Given the description of an element on the screen output the (x, y) to click on. 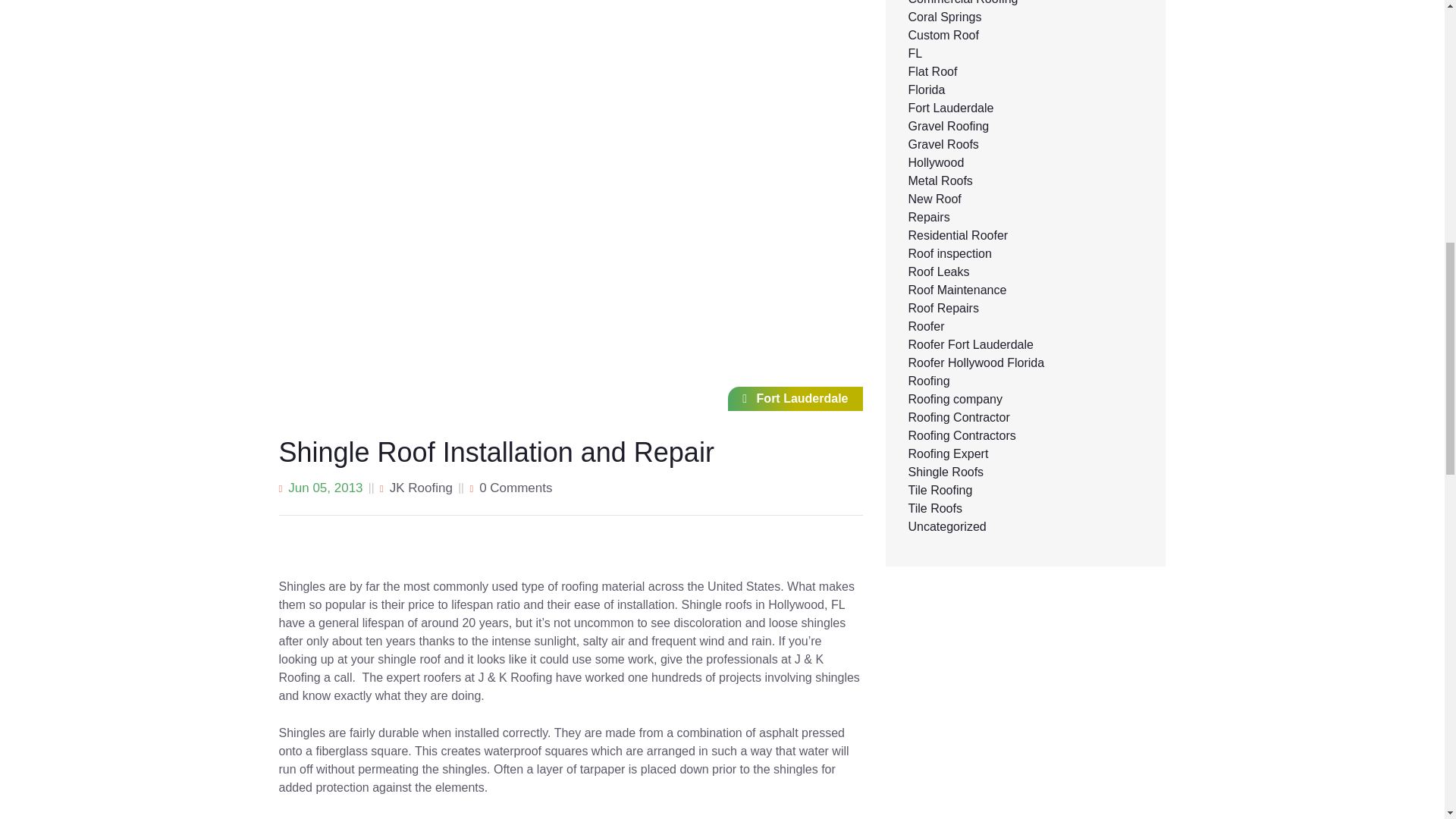
Search Now! (1016, 148)
JK Roofing (421, 487)
0 Comments (515, 487)
